Given the description of an element on the screen output the (x, y) to click on. 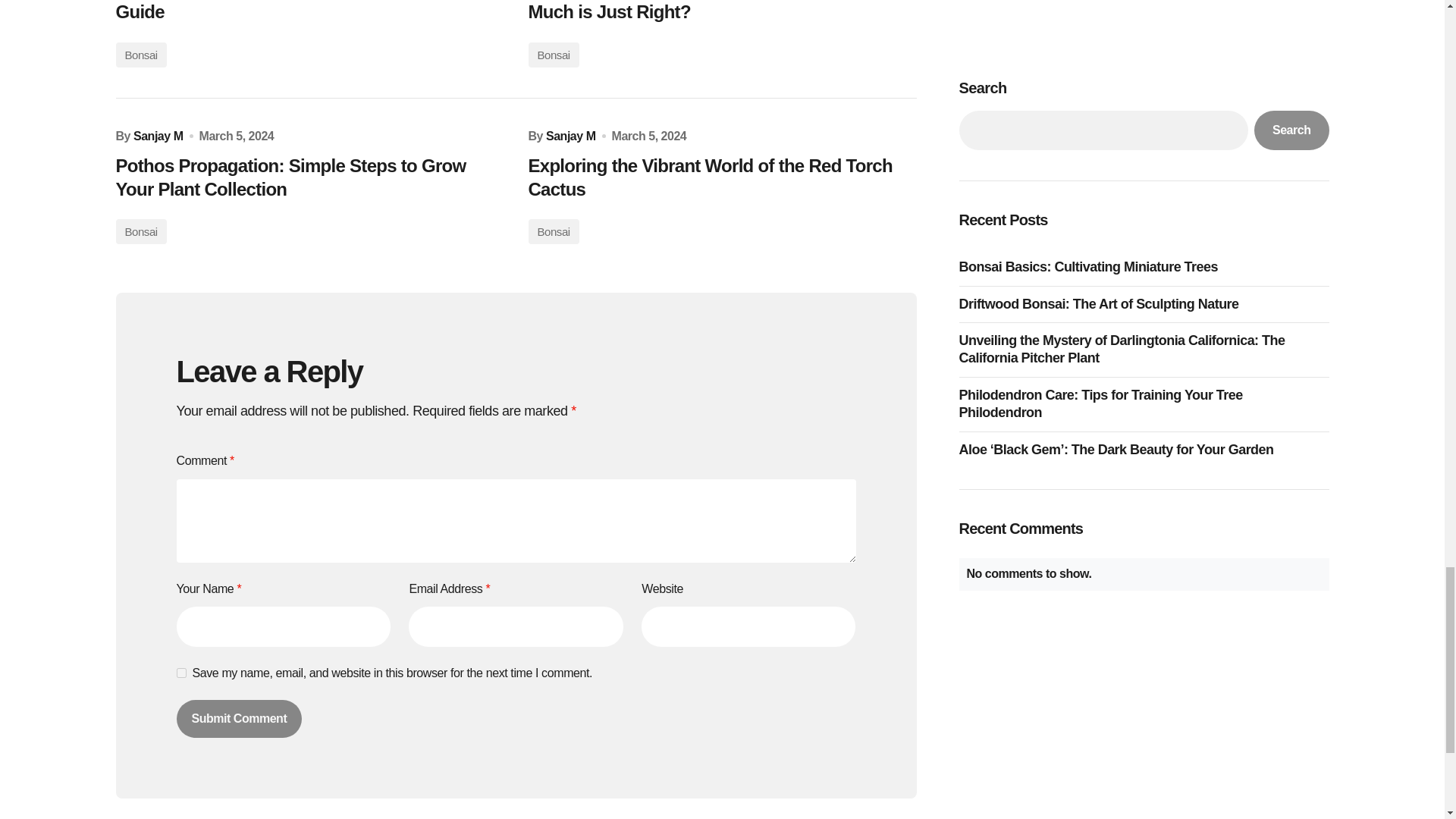
yes (181, 673)
Submit Comment (238, 718)
English Ivy Repotting 101: A Step-by-Step Guide (309, 11)
Bonsai (552, 231)
Exploring the Vibrant World of the Red Torch Cactus (721, 176)
Sanjay M (570, 135)
Bonsai (140, 54)
Bonsai (552, 54)
